Given the description of an element on the screen output the (x, y) to click on. 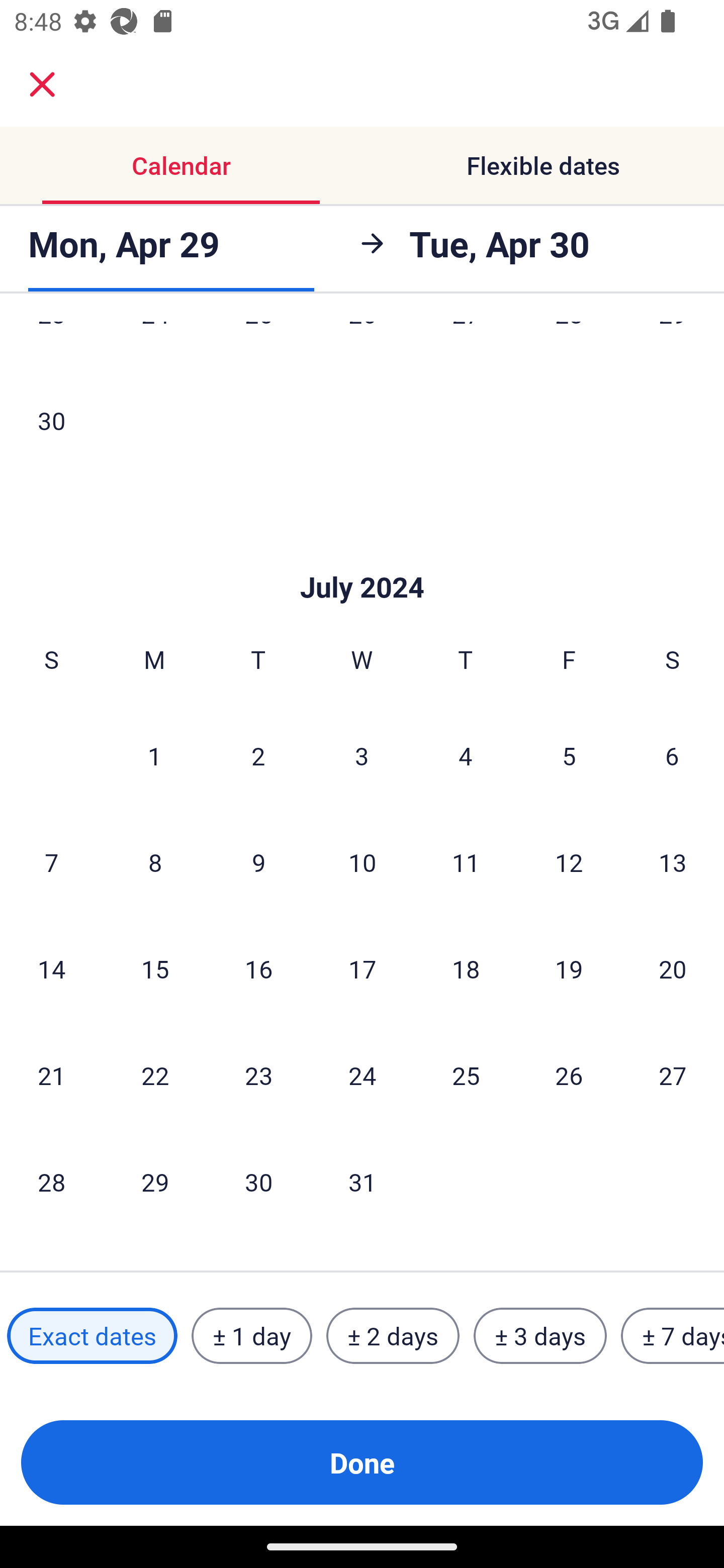
close. (42, 84)
Flexible dates (542, 164)
30 Sunday, June 30, 2024 (51, 419)
Skip to Done (362, 556)
1 Monday, July 1, 2024 (154, 755)
2 Tuesday, July 2, 2024 (257, 755)
3 Wednesday, July 3, 2024 (361, 755)
4 Thursday, July 4, 2024 (465, 755)
5 Friday, July 5, 2024 (568, 755)
6 Saturday, July 6, 2024 (672, 755)
7 Sunday, July 7, 2024 (51, 862)
8 Monday, July 8, 2024 (155, 862)
9 Tuesday, July 9, 2024 (258, 862)
10 Wednesday, July 10, 2024 (362, 862)
11 Thursday, July 11, 2024 (465, 862)
12 Friday, July 12, 2024 (569, 862)
13 Saturday, July 13, 2024 (672, 862)
14 Sunday, July 14, 2024 (51, 968)
15 Monday, July 15, 2024 (155, 968)
16 Tuesday, July 16, 2024 (258, 968)
17 Wednesday, July 17, 2024 (362, 968)
18 Thursday, July 18, 2024 (465, 968)
19 Friday, July 19, 2024 (569, 968)
20 Saturday, July 20, 2024 (672, 968)
21 Sunday, July 21, 2024 (51, 1075)
22 Monday, July 22, 2024 (155, 1075)
23 Tuesday, July 23, 2024 (258, 1075)
24 Wednesday, July 24, 2024 (362, 1075)
25 Thursday, July 25, 2024 (465, 1075)
26 Friday, July 26, 2024 (569, 1075)
27 Saturday, July 27, 2024 (672, 1075)
28 Sunday, July 28, 2024 (51, 1182)
29 Monday, July 29, 2024 (155, 1182)
30 Tuesday, July 30, 2024 (258, 1182)
31 Wednesday, July 31, 2024 (362, 1182)
Exact dates (92, 1335)
± 1 day (251, 1335)
± 2 days (392, 1335)
± 3 days (539, 1335)
± 7 days (672, 1335)
Done (361, 1462)
